Given the description of an element on the screen output the (x, y) to click on. 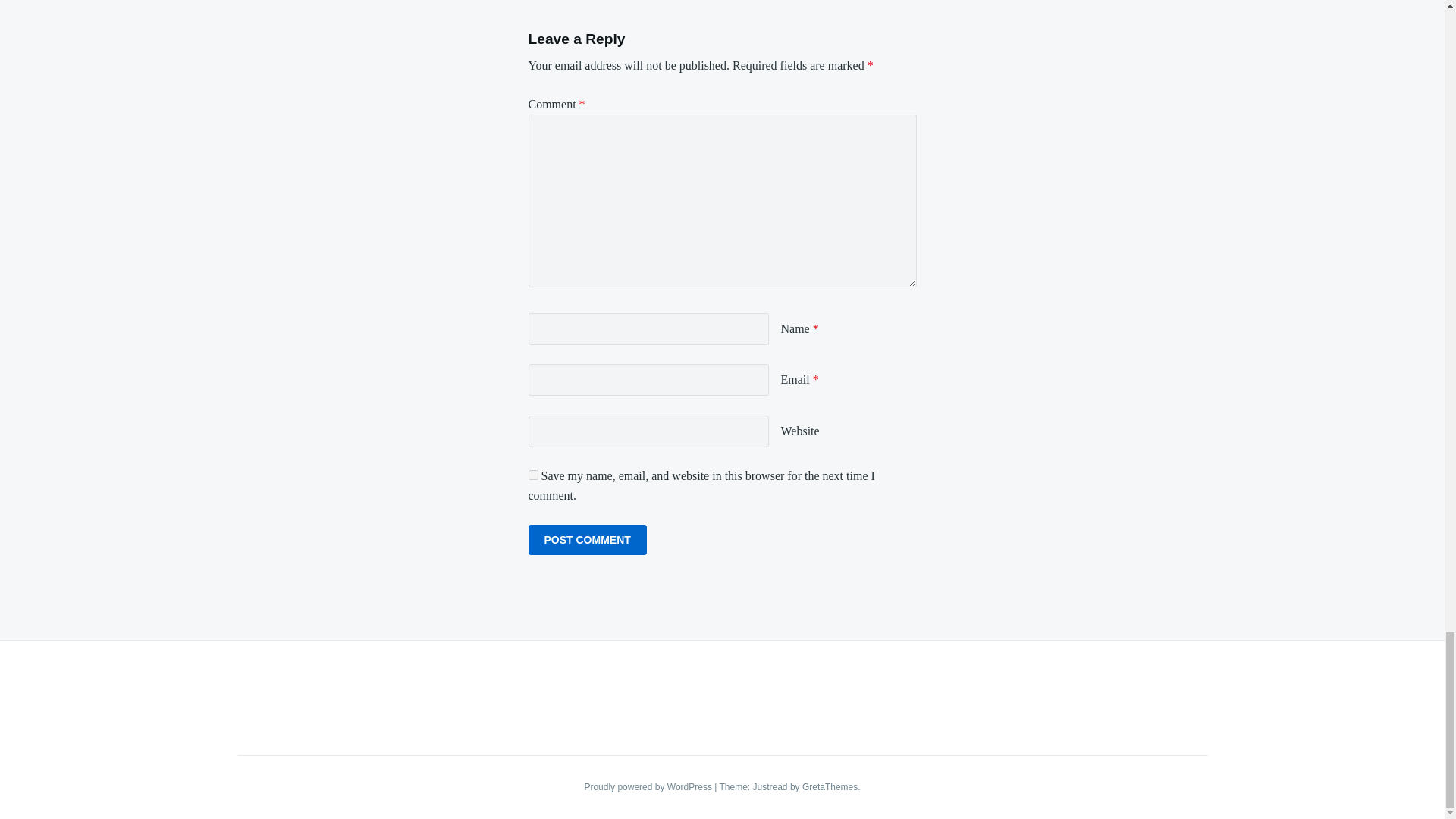
Post Comment (586, 539)
Proudly powered by WordPress (648, 787)
GretaThemes (829, 787)
Post Comment (586, 539)
yes (532, 474)
